Given the description of an element on the screen output the (x, y) to click on. 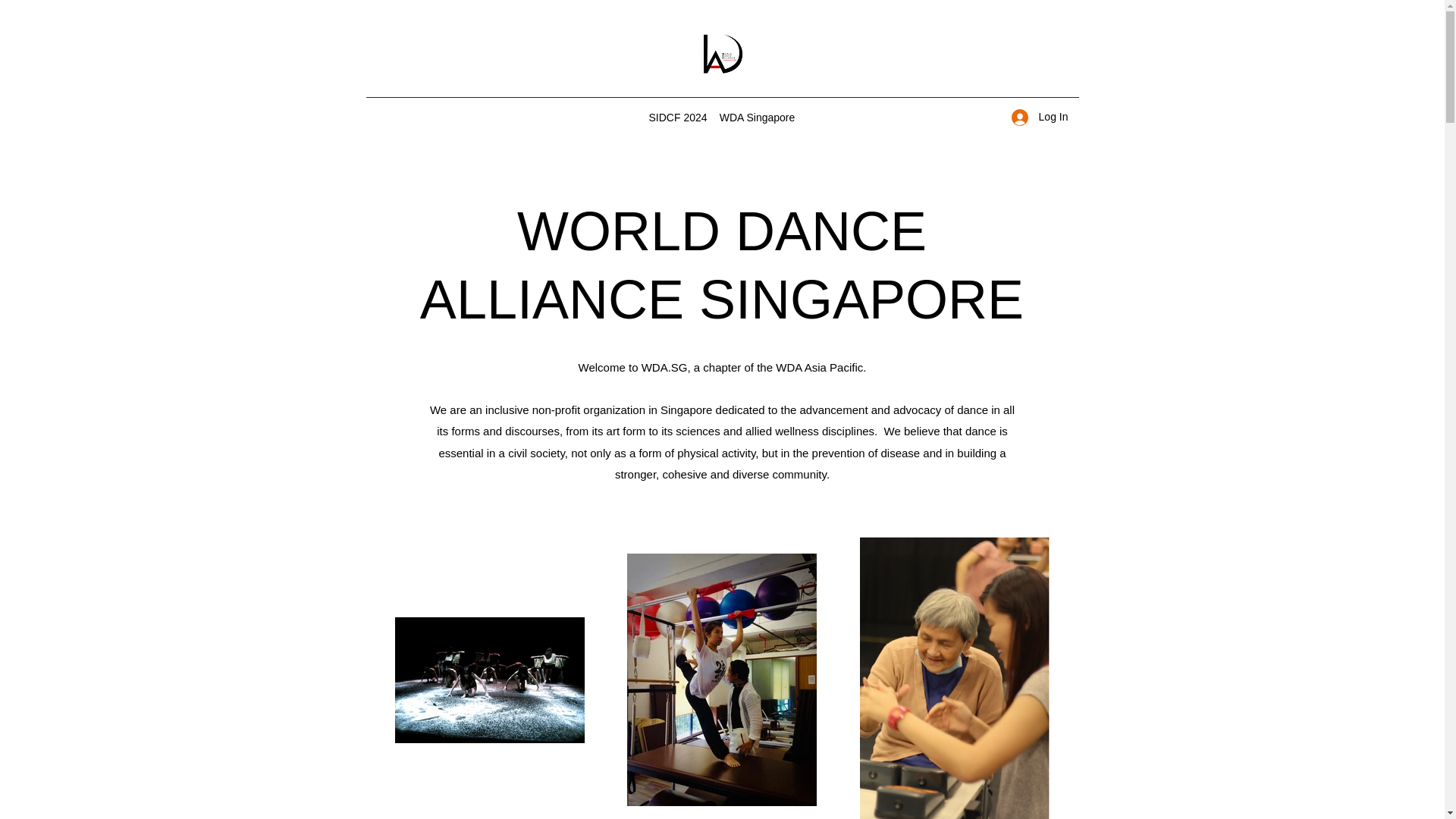
SIDCF 2024 (676, 117)
WDA Singapore (757, 117)
Log In (1039, 117)
